Given the description of an element on the screen output the (x, y) to click on. 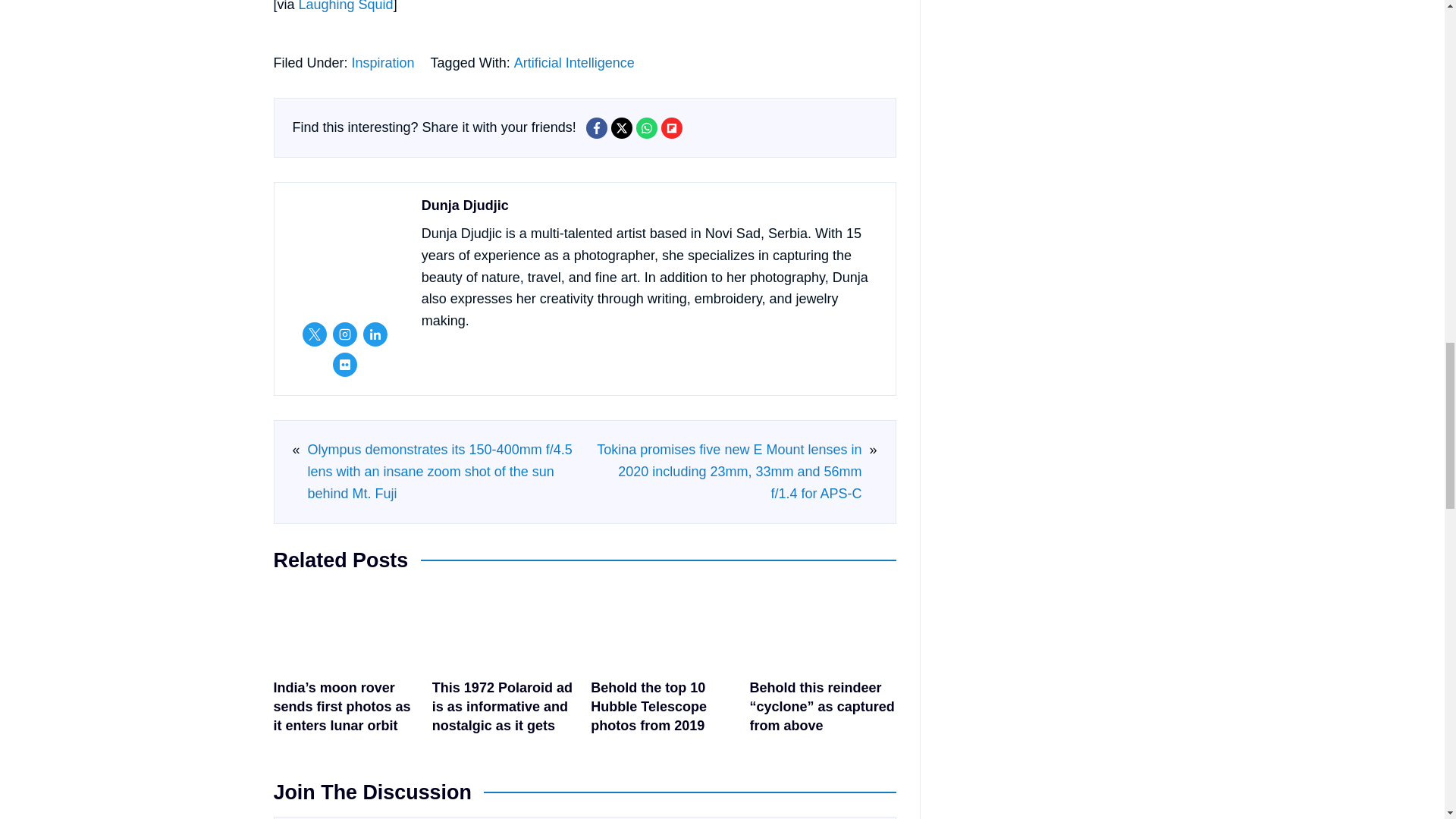
Behold the top 10 Hubble Telescope photos from 2019 (663, 665)
